Given the description of an element on the screen output the (x, y) to click on. 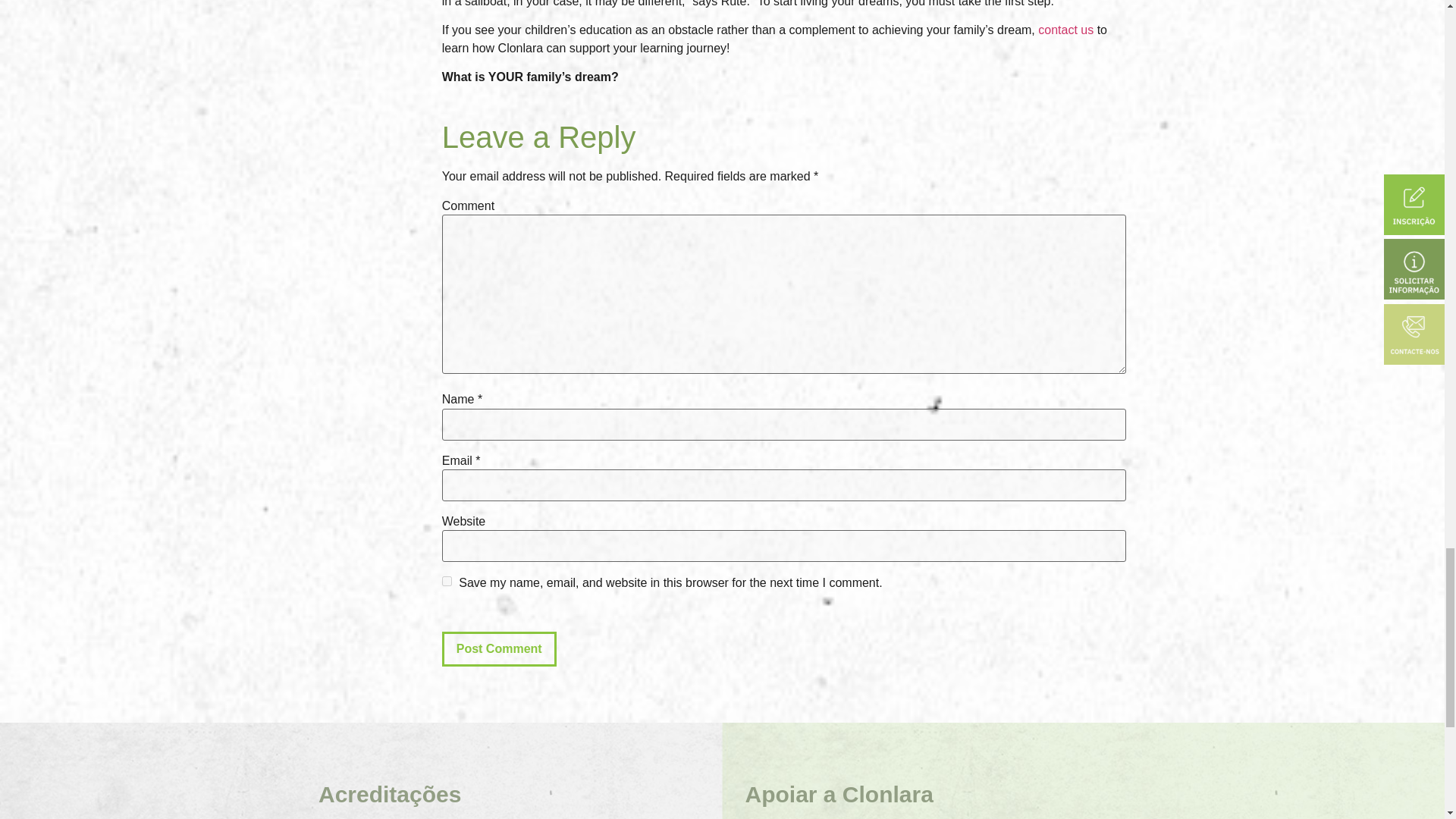
Post Comment (499, 648)
yes (446, 581)
Post Comment (499, 648)
contact us (1065, 29)
